Given the description of an element on the screen output the (x, y) to click on. 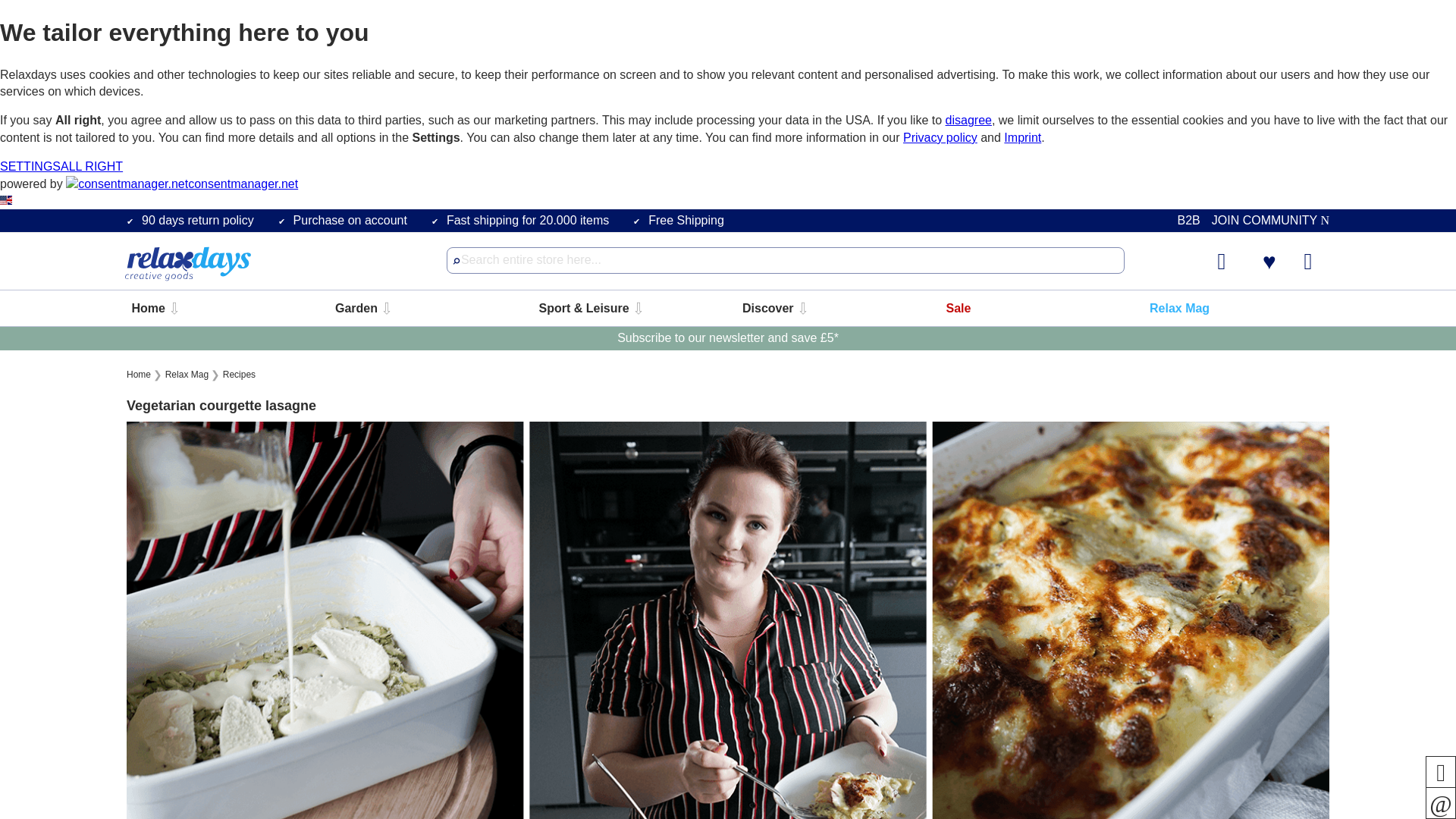
JOIN COMMUNITY  (1270, 219)
Go to Home Page (139, 374)
My Cart (1315, 258)
logo (186, 264)
B2B (1187, 219)
Home (150, 307)
